Given the description of an element on the screen output the (x, y) to click on. 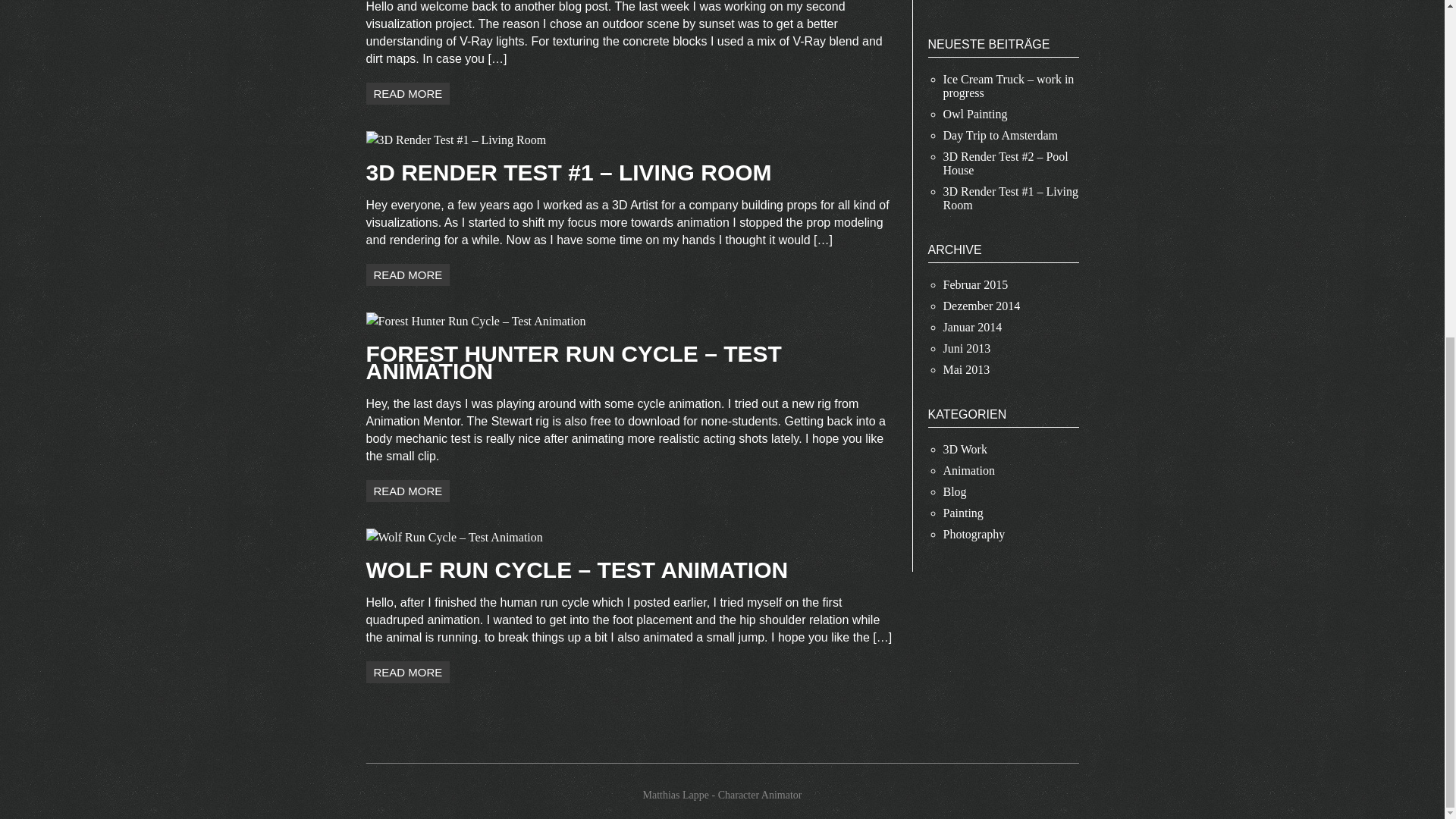
Blog (954, 491)
Mai 2013 (966, 369)
Dezember 2014 (981, 305)
Juni 2013 (967, 348)
Day Trip to Amsterdam (1000, 134)
3D Work (965, 449)
Februar 2015 (976, 284)
READ MORE (407, 92)
READ MORE (407, 274)
Owl Painting (975, 113)
Animation (968, 470)
READ MORE (407, 490)
Januar 2014 (973, 327)
READ MORE (407, 671)
